Given the description of an element on the screen output the (x, y) to click on. 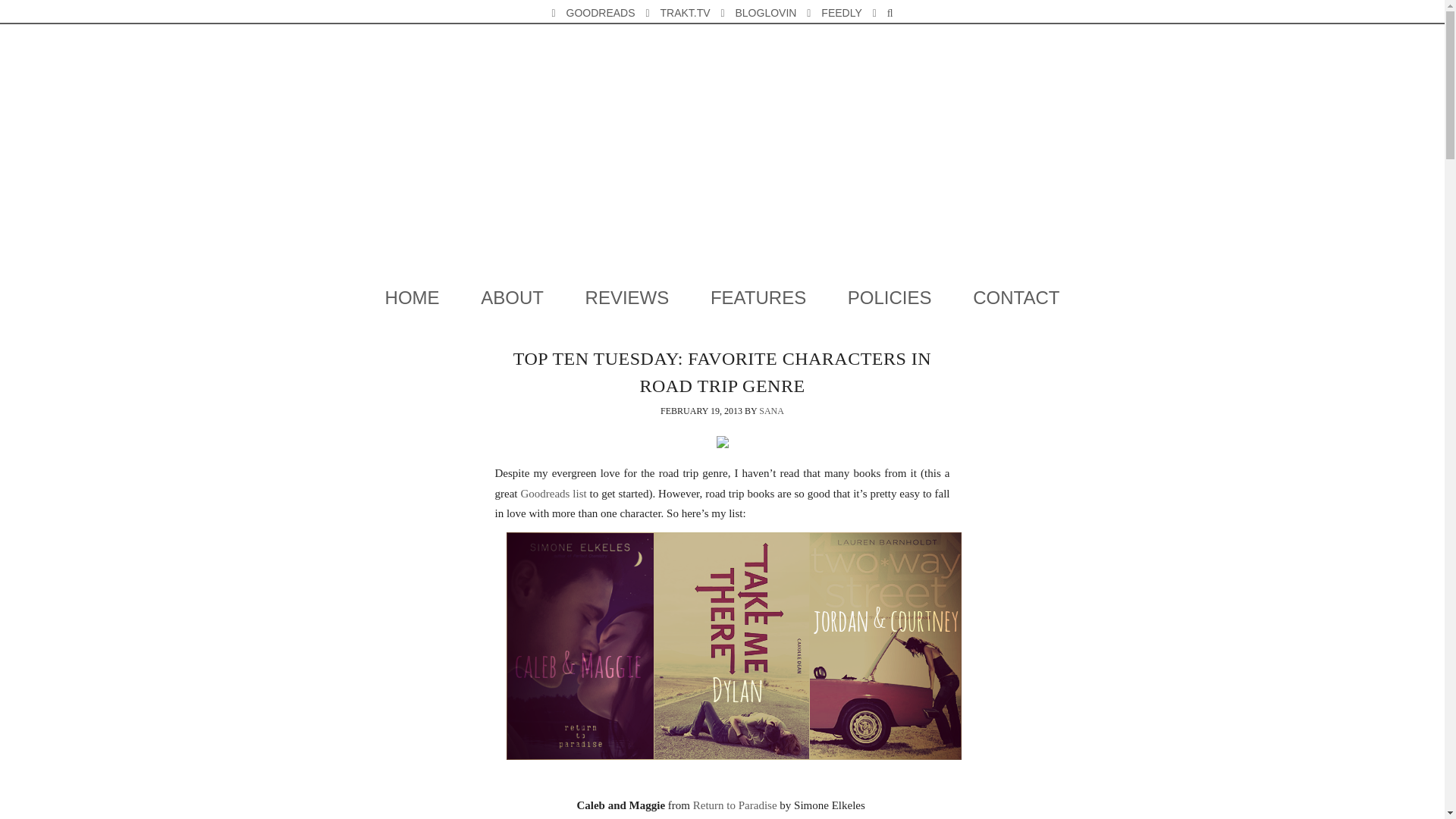
Goodreads list (552, 492)
REVIEWS (627, 298)
TRAKT.TV (684, 13)
ABOUT (512, 298)
FEEDLY (840, 13)
SANA (771, 410)
BLOGLOVIN (764, 13)
Return to Paradise (735, 805)
HOME (412, 298)
FEATURES (758, 298)
GOODREADS (600, 13)
CONTACT (1016, 298)
POLICIES (889, 298)
